Given the description of an element on the screen output the (x, y) to click on. 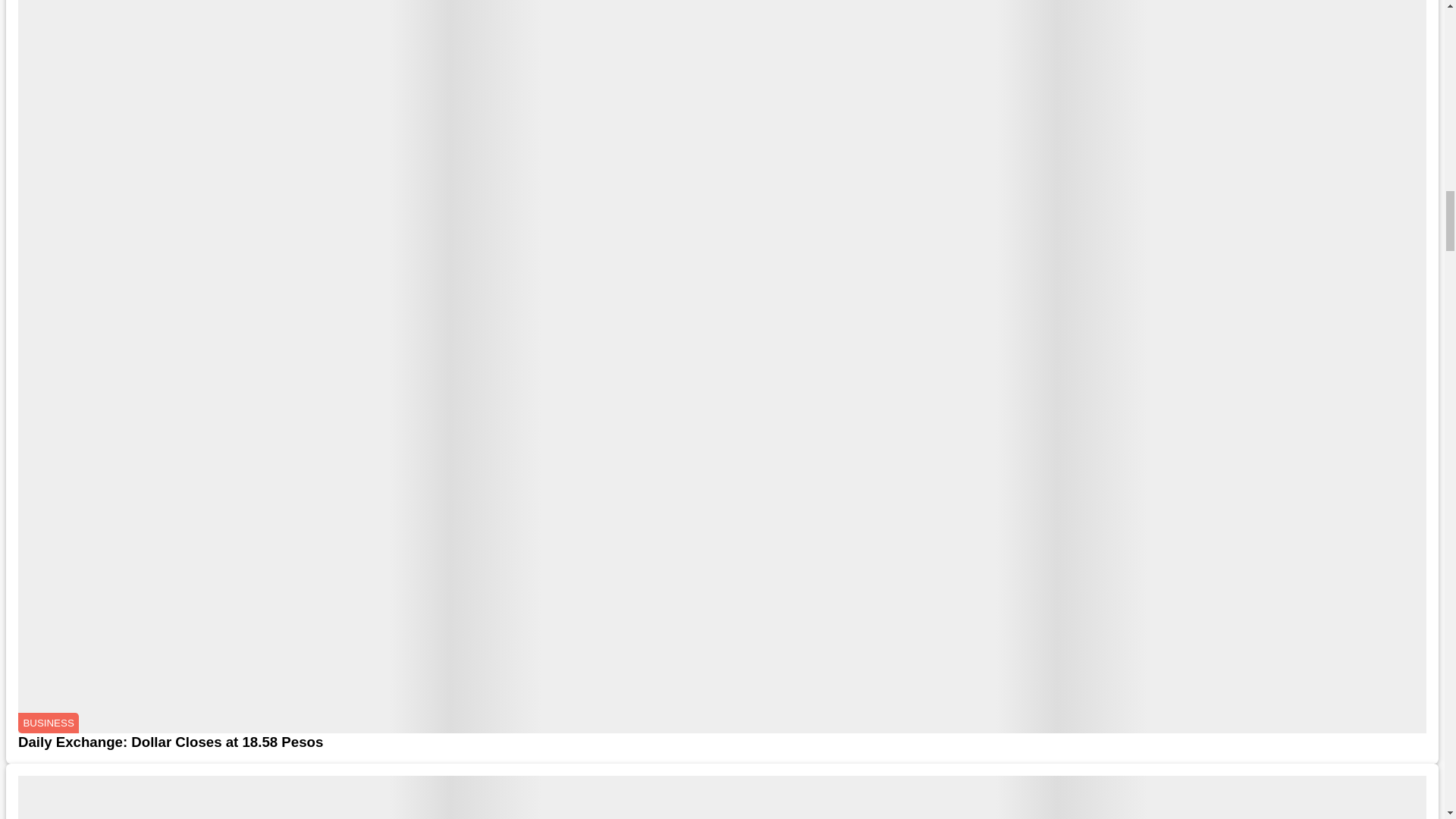
Daily Exchange: Dollar Closes at 18.58 Pesos (721, 742)
BUSINESS (47, 722)
